Given the description of an element on the screen output the (x, y) to click on. 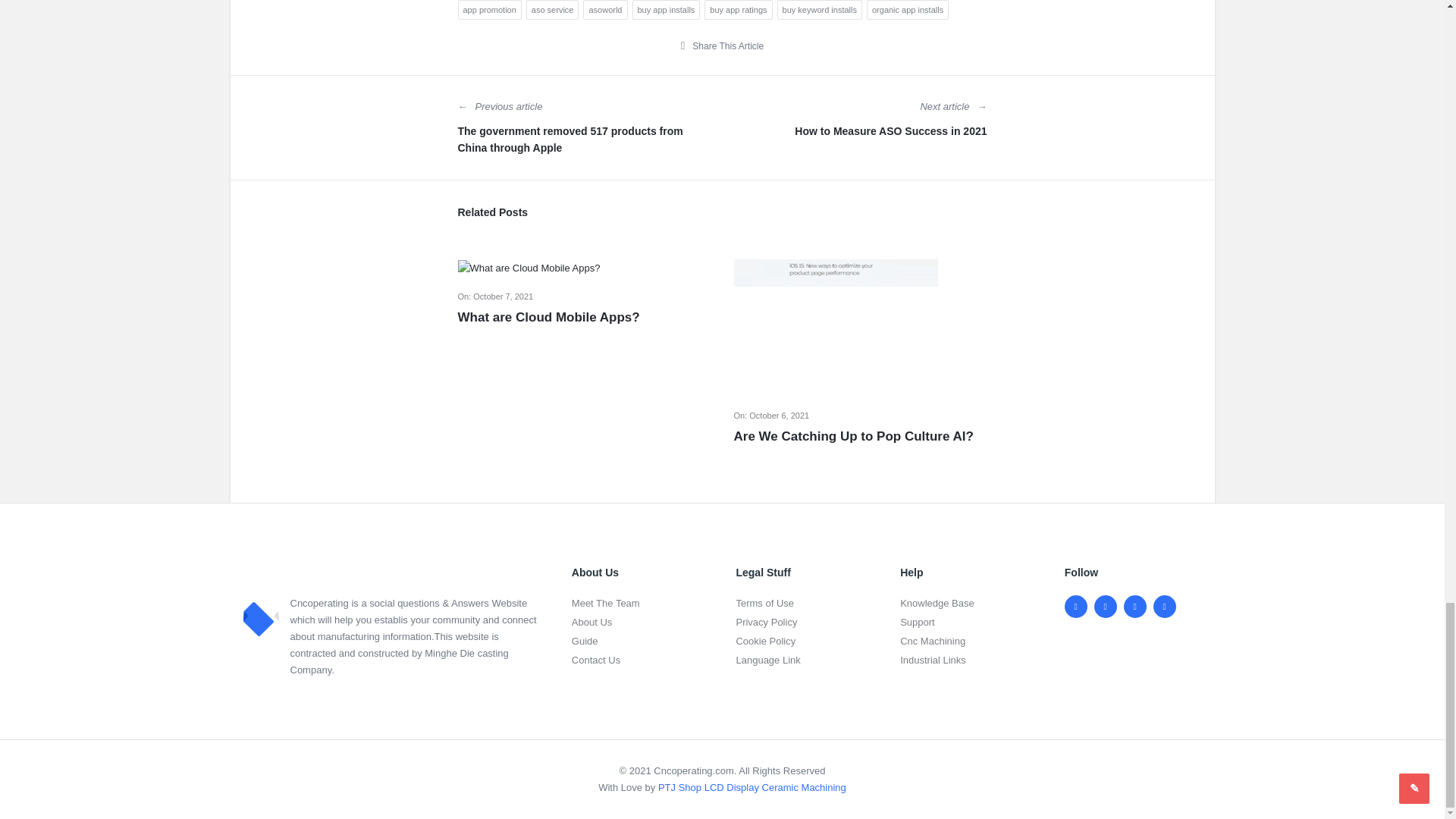
Linkedin (1135, 606)
Feed (1164, 606)
What are Cloud Mobile Apps? (584, 317)
Facebook (1075, 606)
Twitter (1105, 606)
Are We Catching Up to Pop Culture AI? (860, 436)
